Given the description of an element on the screen output the (x, y) to click on. 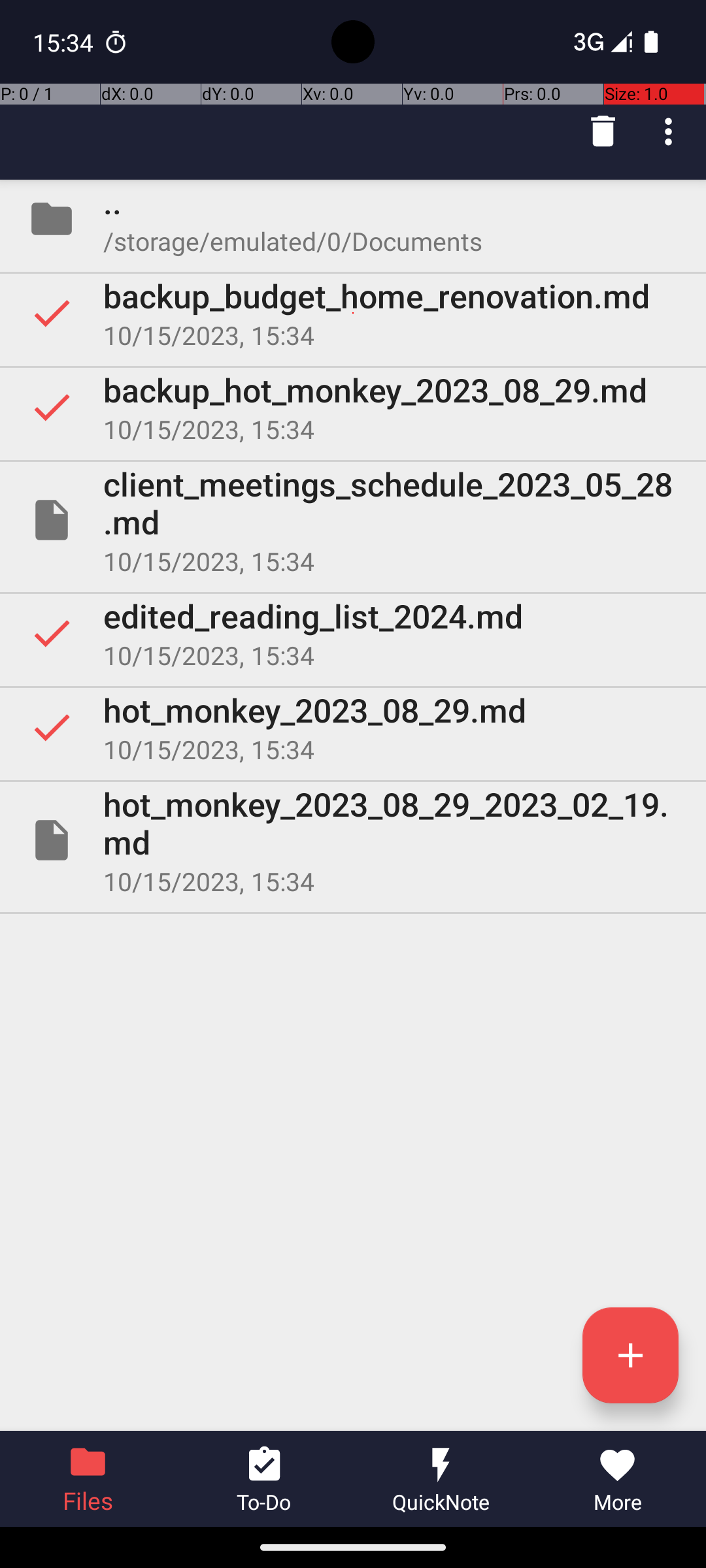
Selected backup_budget_home_renovation.md 10/15/2023, 15:34 Element type: android.widget.LinearLayout (353, 312)
Selected backup_hot_monkey_2023_08_29.md  Element type: android.widget.LinearLayout (353, 406)
File client_meetings_schedule_2023_05_28.md  Element type: android.widget.LinearLayout (353, 519)
Selected edited_reading_list_2024.md 10/15/2023, 15:34 Element type: android.widget.LinearLayout (353, 632)
Selected hot_monkey_2023_08_29.md 10/15/2023, 15:34 Element type: android.widget.LinearLayout (353, 726)
File hot_monkey_2023_08_29_2023_02_19.md  Element type: android.widget.LinearLayout (353, 840)
